Given the description of an element on the screen output the (x, y) to click on. 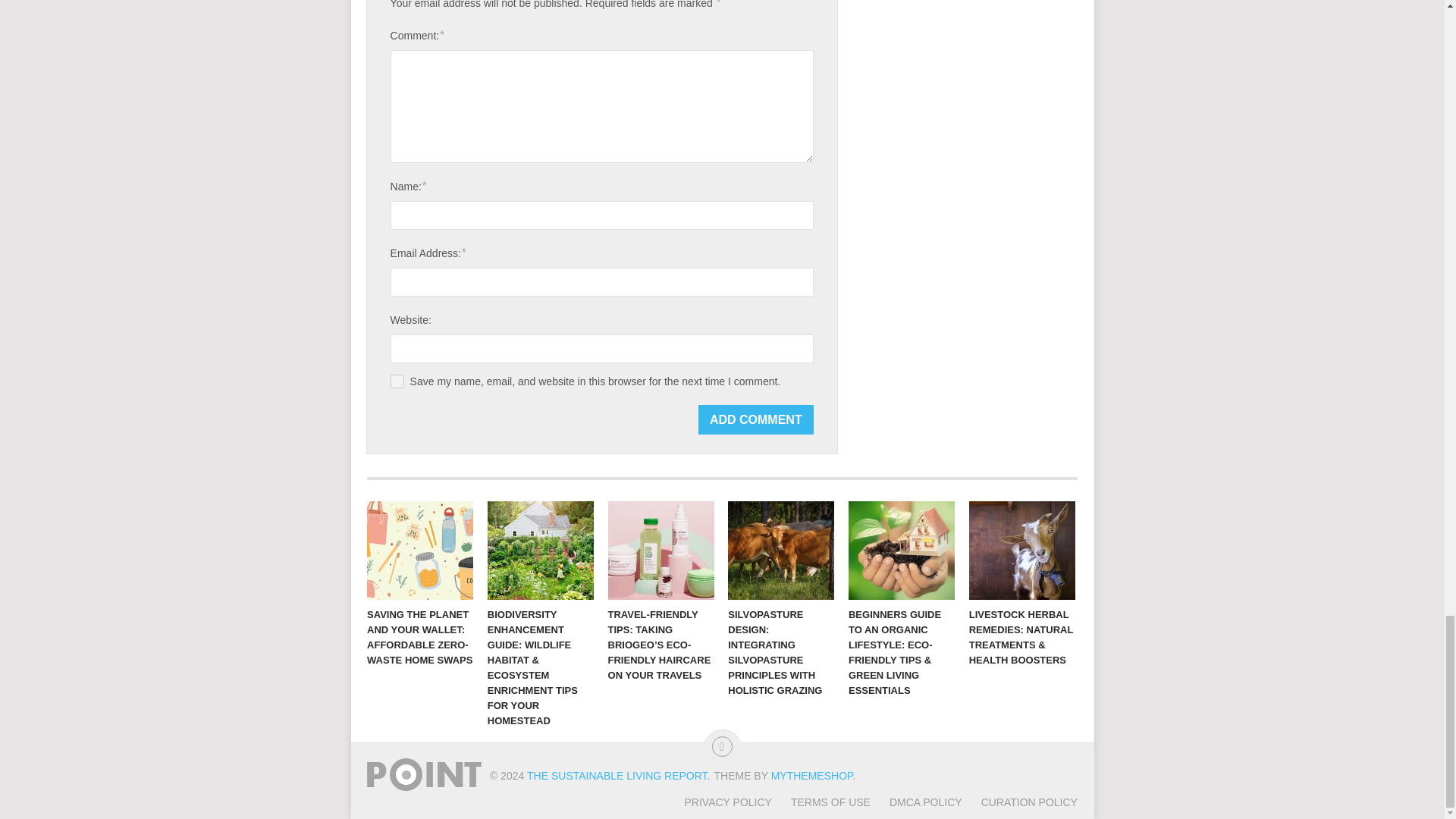
Add Comment (755, 419)
yes (397, 381)
